Given the description of an element on the screen output the (x, y) to click on. 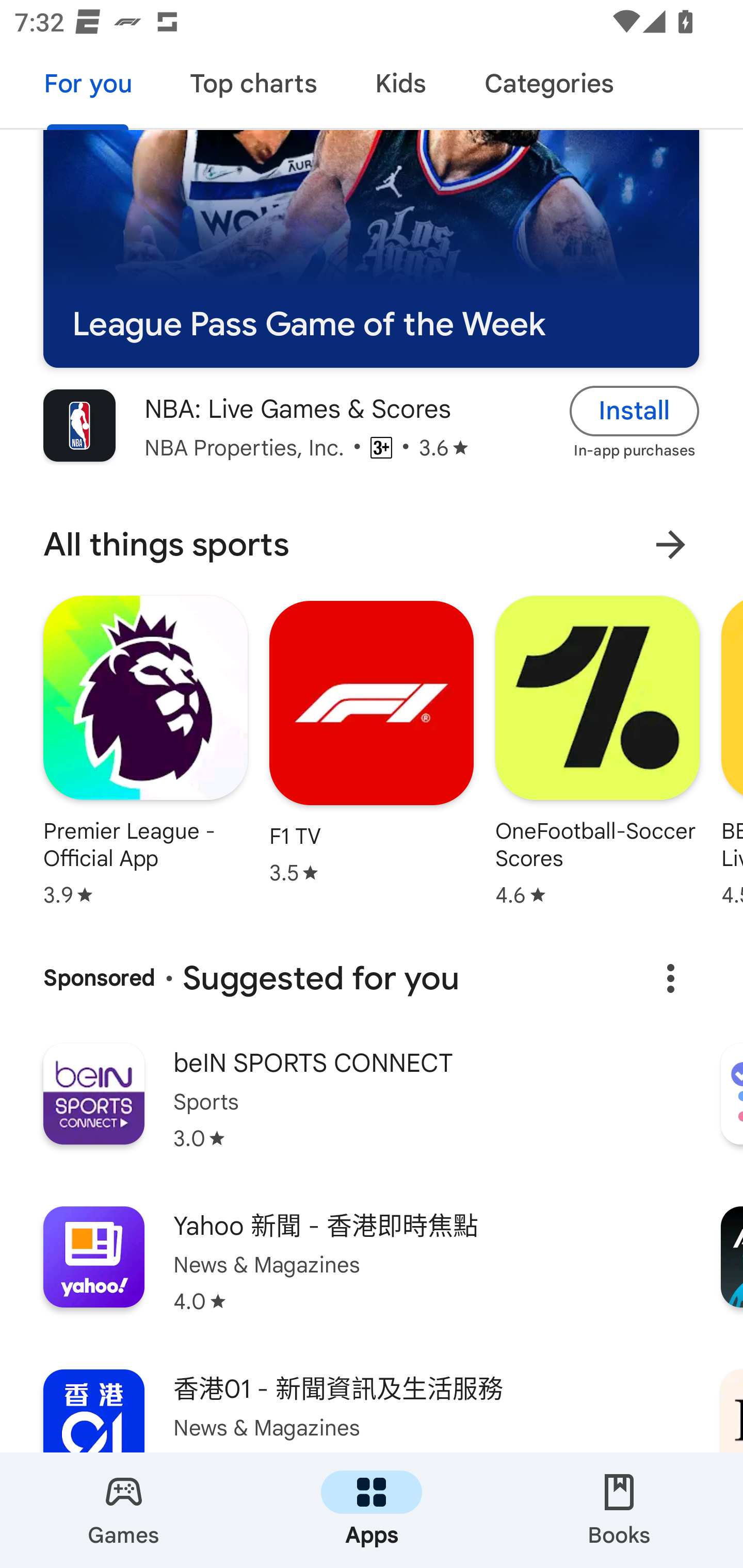
Top charts (253, 86)
Kids (400, 86)
Categories (548, 86)
League Pass Game of the Week (371, 249)
Install (634, 411)
More results for All things sports (670, 544)
Premier League - Official App
Star rating: 3.9
 (145, 750)
F1 TV
Star rating: 3.5
 (371, 742)
OneFootball-Soccer Scores
Star rating: 4.6
 (597, 750)
About this ad (670, 978)
beIN SPORTS CONNECT
Sports
Star rating: 3.0
 (371, 1109)
Games (123, 1509)
Books (619, 1509)
